Given the description of an element on the screen output the (x, y) to click on. 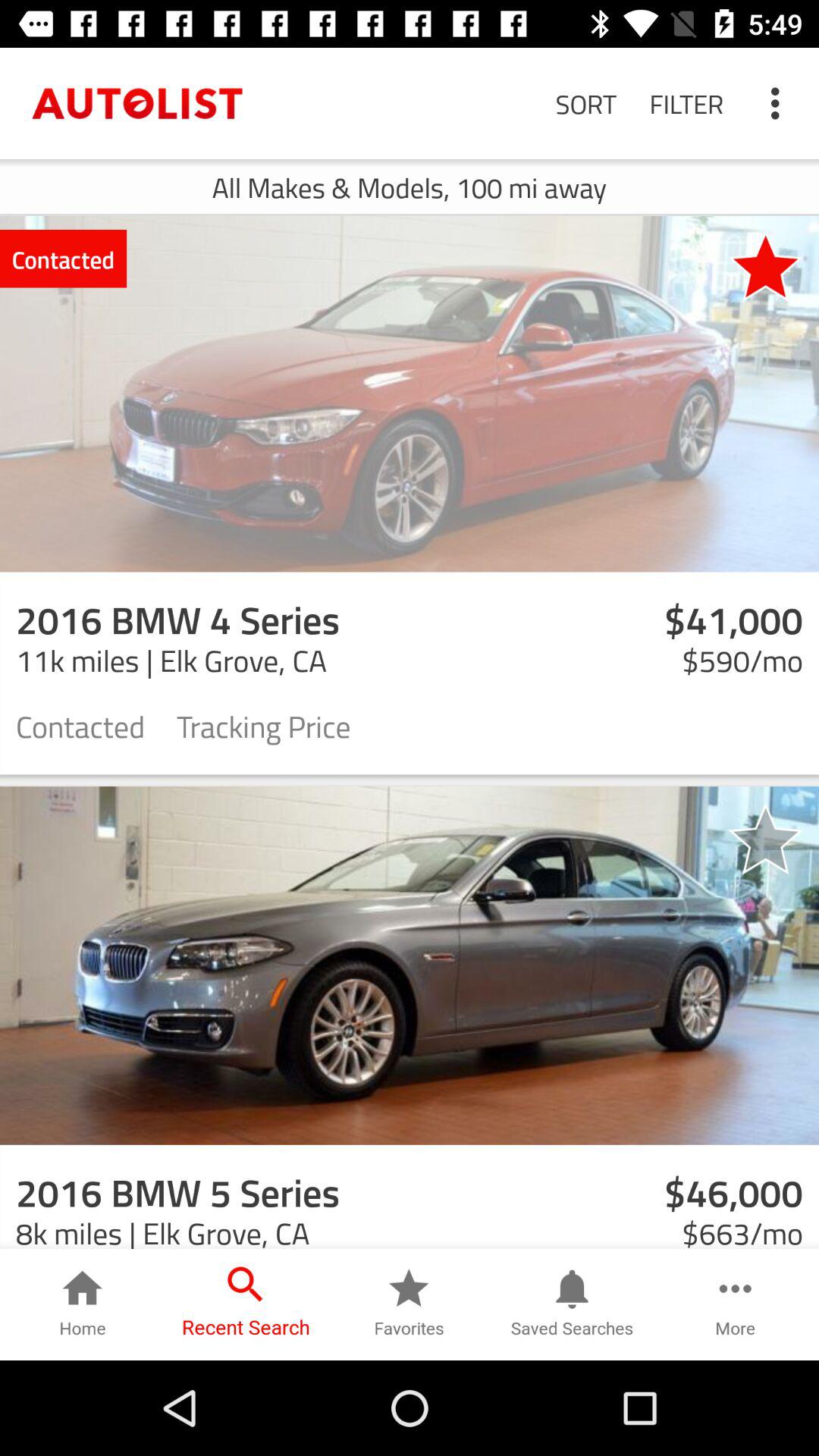
select the item next to filter item (585, 103)
